Given the description of an element on the screen output the (x, y) to click on. 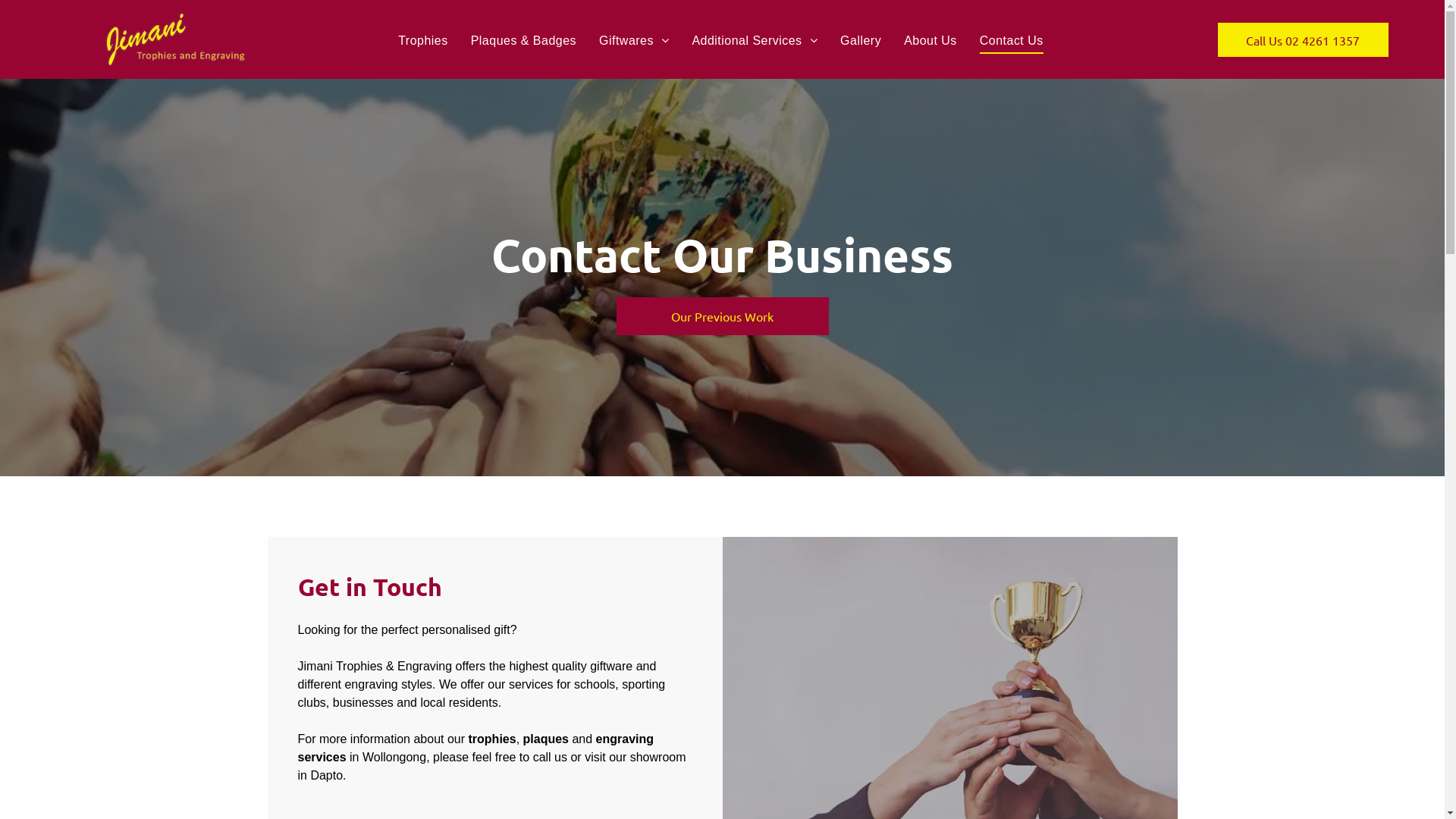
Our Previous Work Element type: text (721, 316)
Contact Us Element type: text (1011, 40)
Call Us 02 4261 1357 Element type: text (1302, 39)
Jimani Trophies & Engraving: Trophy Shop in Wollongong Element type: hover (173, 39)
Plaques & Badges Element type: text (523, 40)
Trophies Element type: text (422, 40)
Additional Services Element type: text (754, 40)
Giftwares Element type: text (633, 40)
Gallery Element type: text (860, 40)
About Us Element type: text (930, 40)
engraving services Element type: text (475, 747)
plaques Element type: text (545, 738)
trophies Element type: text (492, 738)
